Given the description of an element on the screen output the (x, y) to click on. 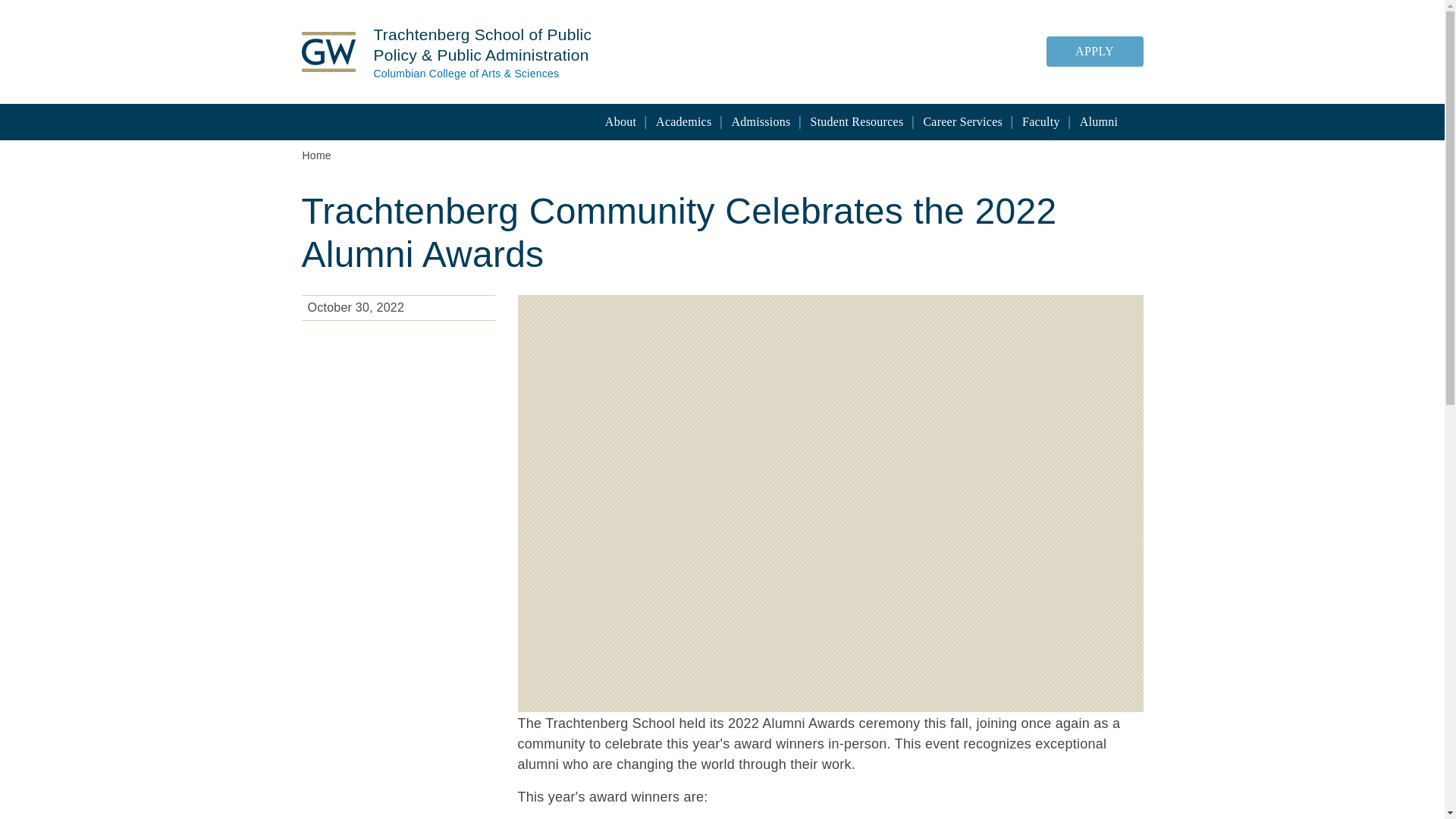
Career Services (962, 122)
Academics (683, 122)
APPLY (1094, 51)
APPLY (1094, 50)
Admissions (760, 122)
About (620, 122)
Student Resources (856, 122)
